Given the description of an element on the screen output the (x, y) to click on. 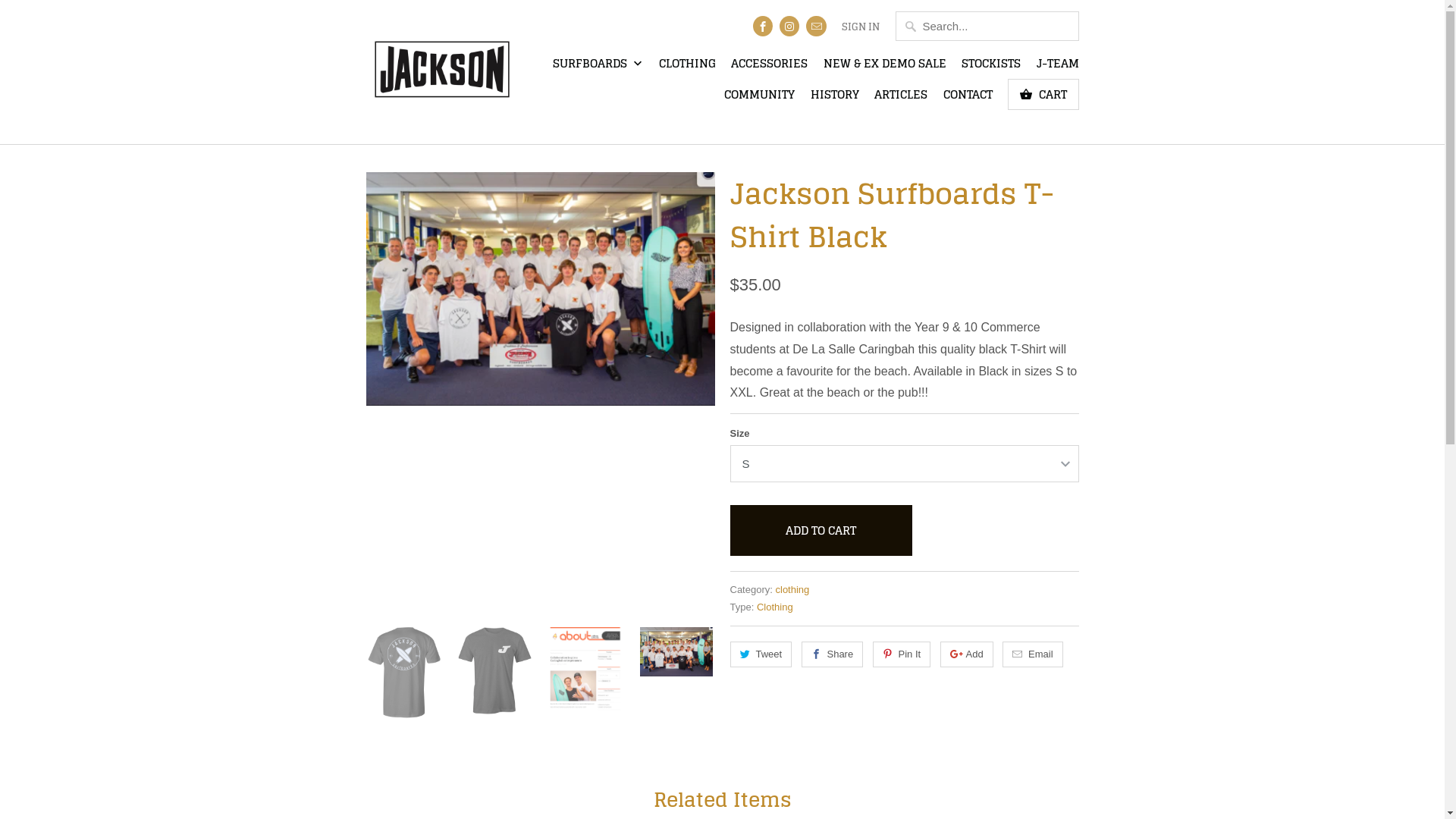
HISTORY Element type: text (834, 98)
J-TEAM Element type: text (1056, 67)
Jackson Surfboards on Instagram Element type: hover (789, 25)
CLOTHING Element type: text (686, 67)
SURFBOARDS Element type: text (597, 67)
NEW & EX DEMO SALE Element type: text (884, 67)
Share Element type: text (832, 654)
Pin It Element type: text (901, 654)
CART Element type: text (1042, 93)
ADD TO CART Element type: text (820, 530)
ACCESSORIES Element type: text (769, 67)
STOCKISTS Element type: text (990, 67)
Jackson Surfboards Element type: hover (441, 71)
ARTICLES Element type: text (900, 98)
clothing Element type: text (792, 589)
CONTACT Element type: text (967, 98)
Add Element type: text (966, 654)
COMMUNITY Element type: text (759, 98)
Email Jackson Surfboards Element type: hover (815, 25)
Jackson Surfboards on Facebook Element type: hover (762, 25)
Tweet Element type: text (760, 654)
SIGN IN Element type: text (860, 30)
Clothing Element type: text (774, 606)
Email Element type: text (1032, 654)
